Given the description of an element on the screen output the (x, y) to click on. 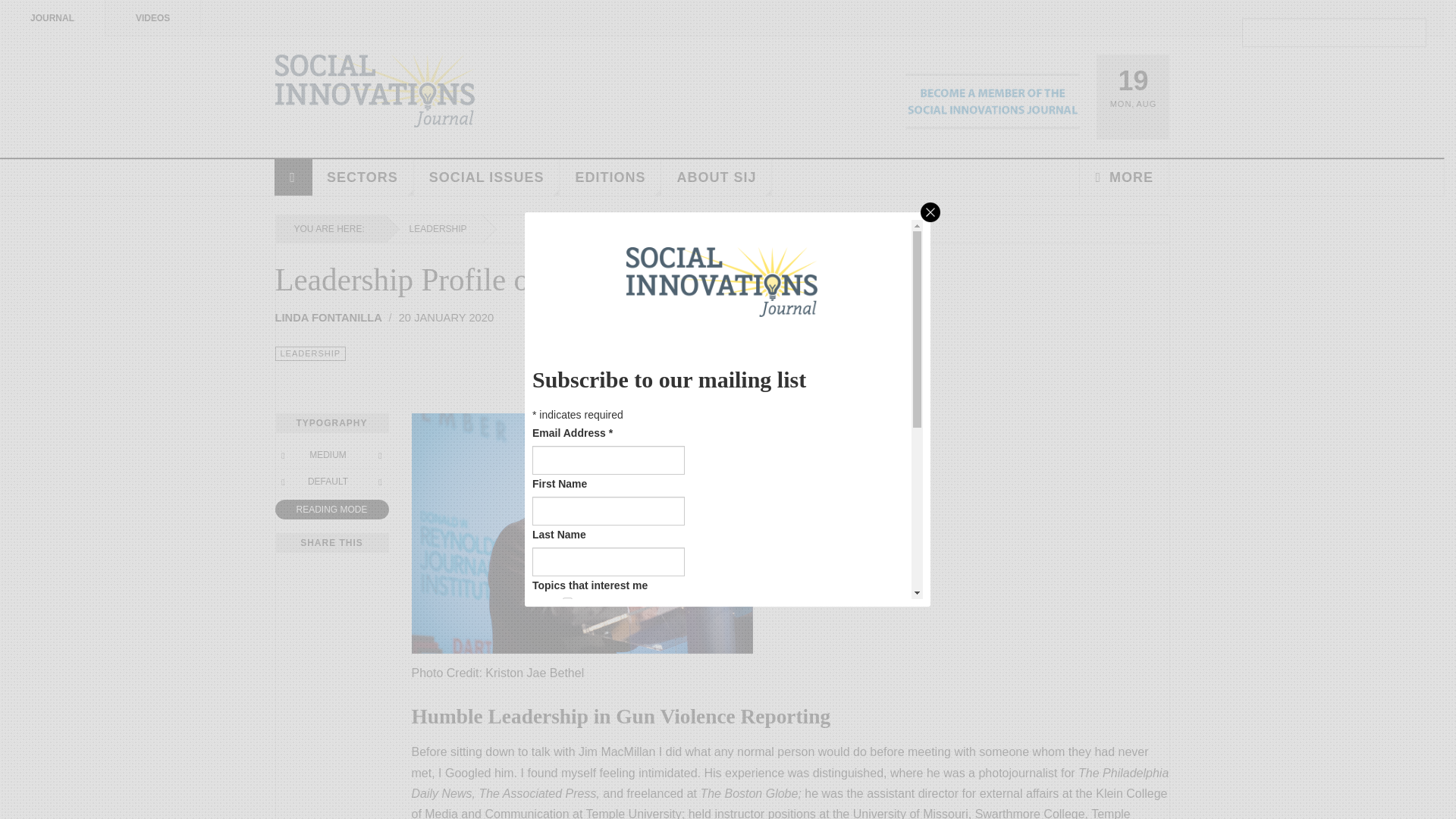
1 (567, 602)
256 (567, 777)
16 (567, 690)
32 (567, 712)
64 (567, 734)
8 (567, 668)
512 (567, 800)
4 (567, 646)
128 (567, 756)
